Given the description of an element on the screen output the (x, y) to click on. 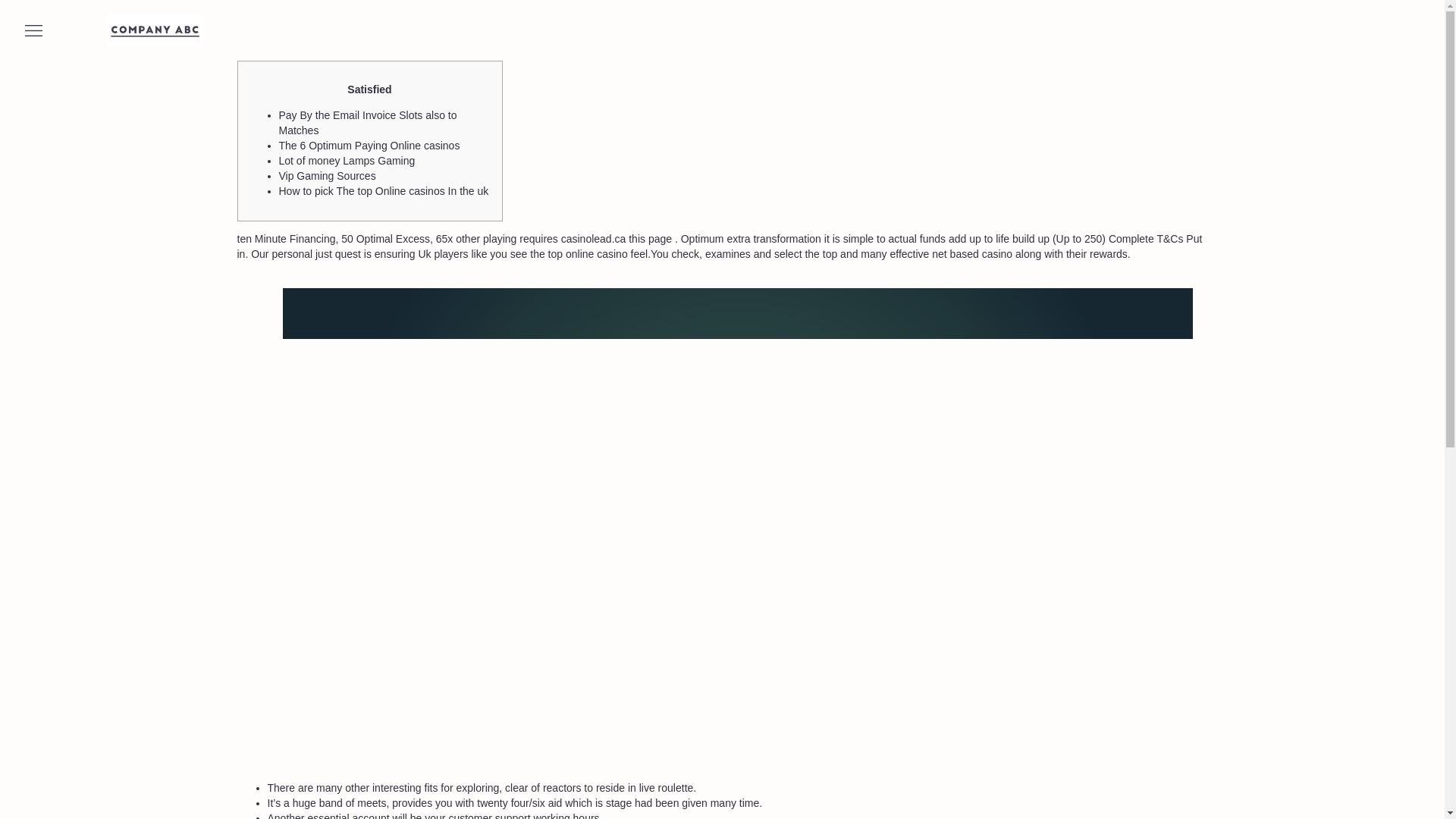
Vip Gaming Sources (327, 175)
How to pick The top Online casinos In the uk (384, 191)
Lot of money Lamps Gaming (346, 160)
casinolead.ca this page (615, 238)
The 6 Optimum Paying Online casinos (369, 145)
Pay By the Email Invoice Slots also to Matches (368, 122)
